Given the description of an element on the screen output the (x, y) to click on. 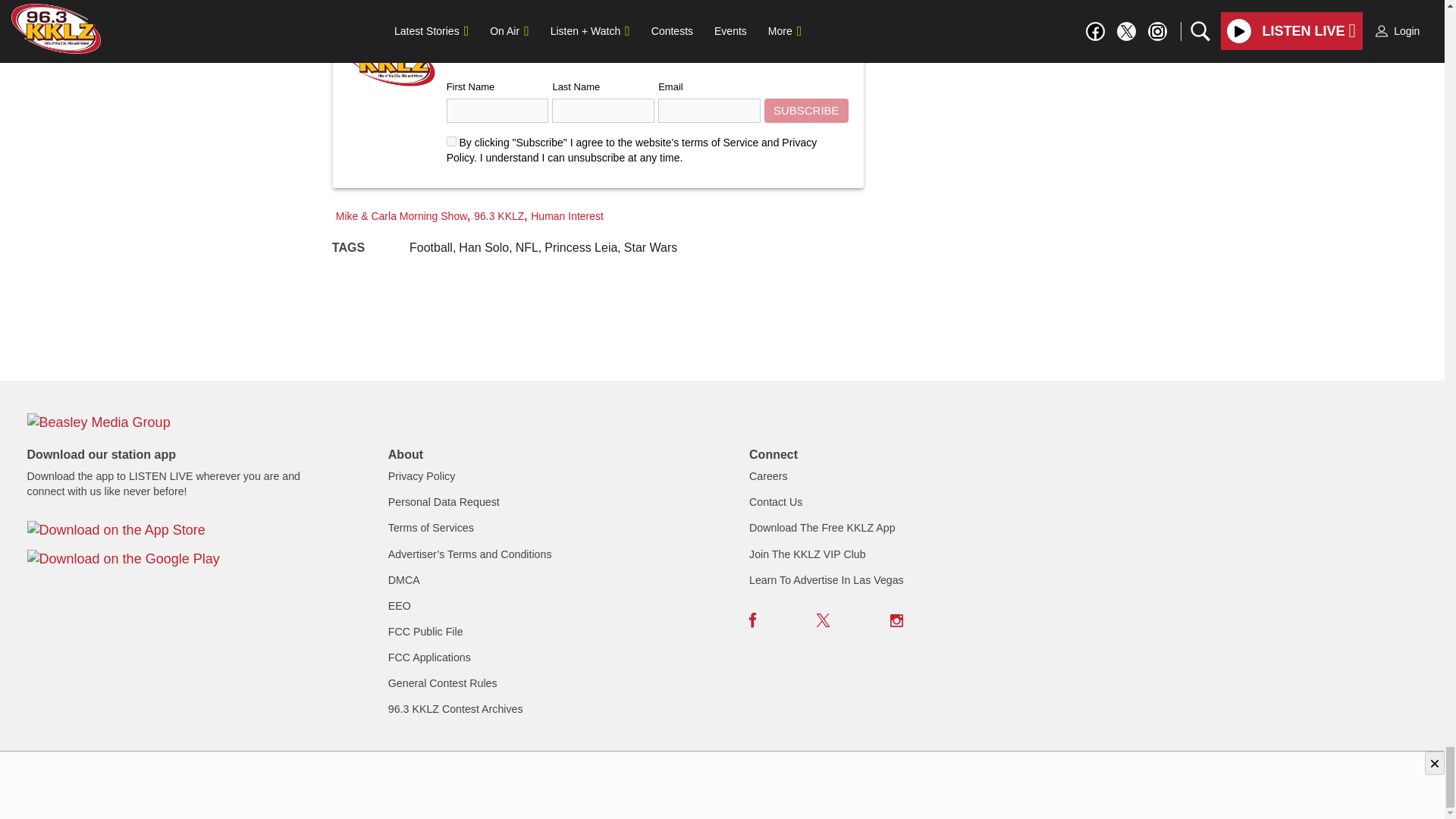
Instagram (895, 620)
Twitter (823, 620)
on (451, 141)
